Given the description of an element on the screen output the (x, y) to click on. 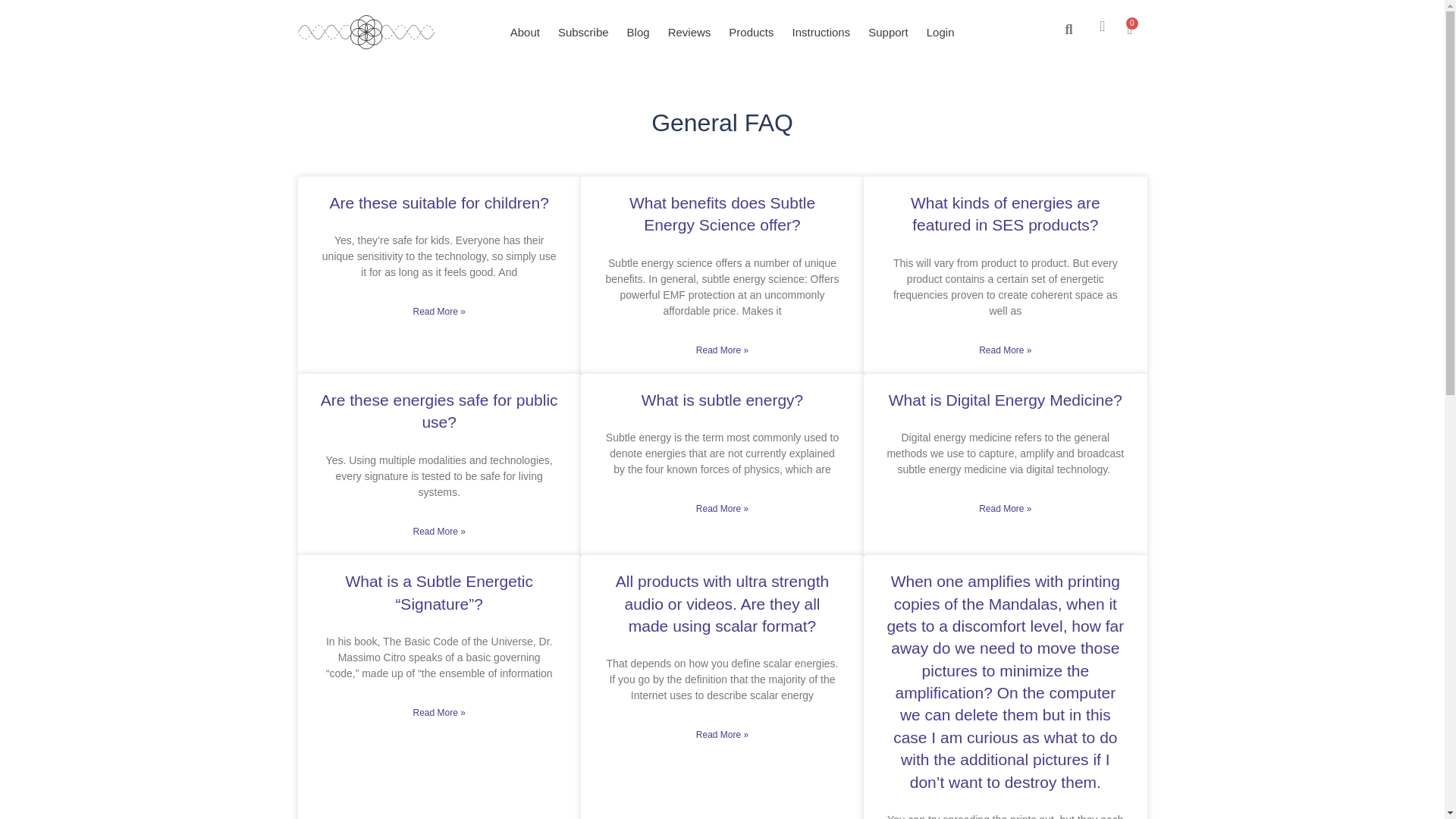
About (524, 32)
Login (940, 32)
Products (751, 32)
Subscribe (582, 32)
Instructions (821, 32)
Reviews (689, 32)
Blog (638, 32)
Support (888, 32)
